Given the description of an element on the screen output the (x, y) to click on. 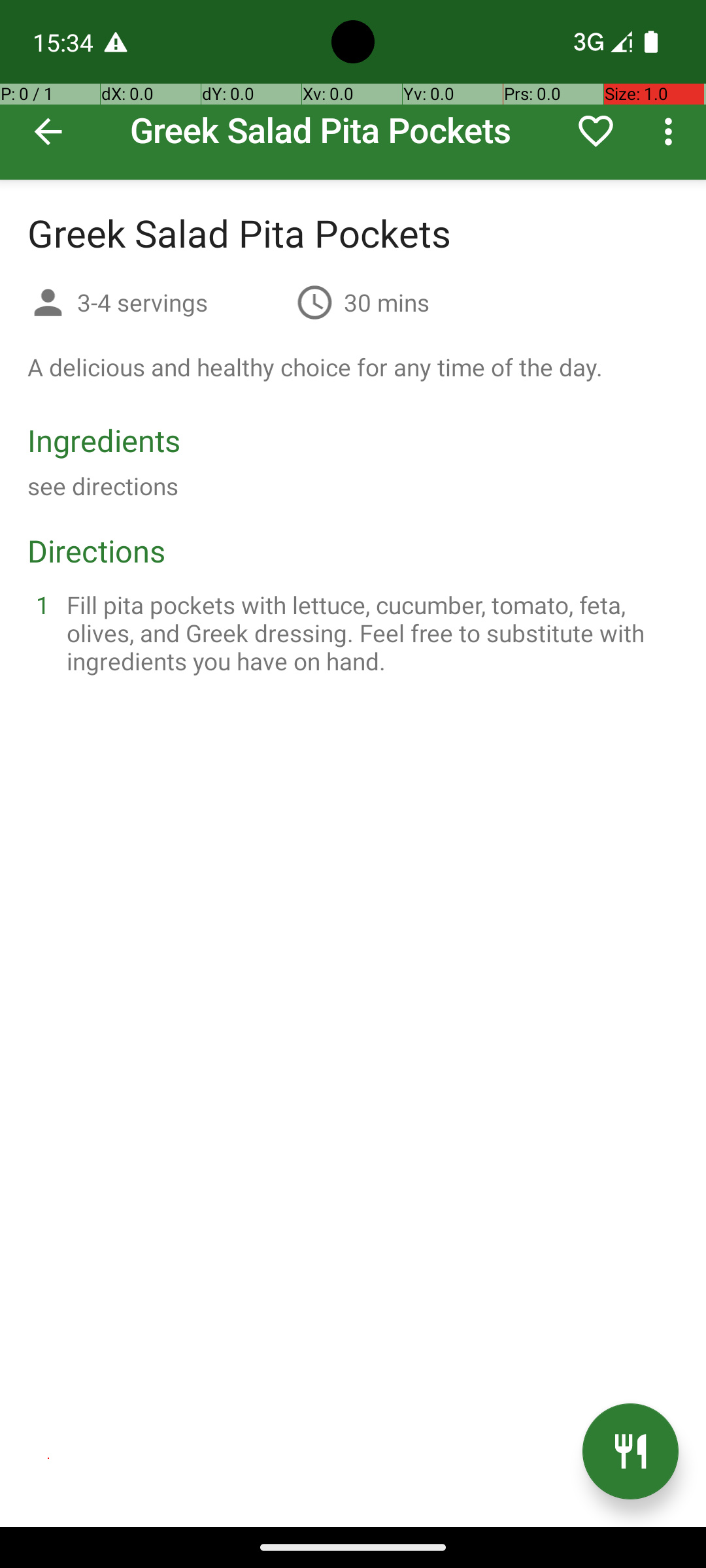
Greek Salad Pita Pockets Element type: android.widget.FrameLayout (353, 89)
Cook Element type: android.widget.ImageButton (630, 1451)
Recipe photo Element type: android.widget.ImageView (353, 89)
Mark as favorite Element type: android.widget.Button (595, 131)
Servings Element type: android.widget.ImageView (47, 303)
3-4 servings Element type: android.widget.TextView (181, 301)
30 mins Element type: android.widget.TextView (386, 301)
A delicious and healthy choice for any time of the day. Element type: android.widget.TextView (314, 366)
Ingredients Element type: android.widget.TextView (103, 439)
see directions Element type: android.widget.TextView (102, 485)
Directions Element type: android.widget.TextView (96, 550)
Fill pita pockets with lettuce, cucumber, tomato, feta, olives, and Greek dressing. Feel free to substitute with ingredients you have on hand. Element type: android.widget.TextView (368, 632)
